Given the description of an element on the screen output the (x, y) to click on. 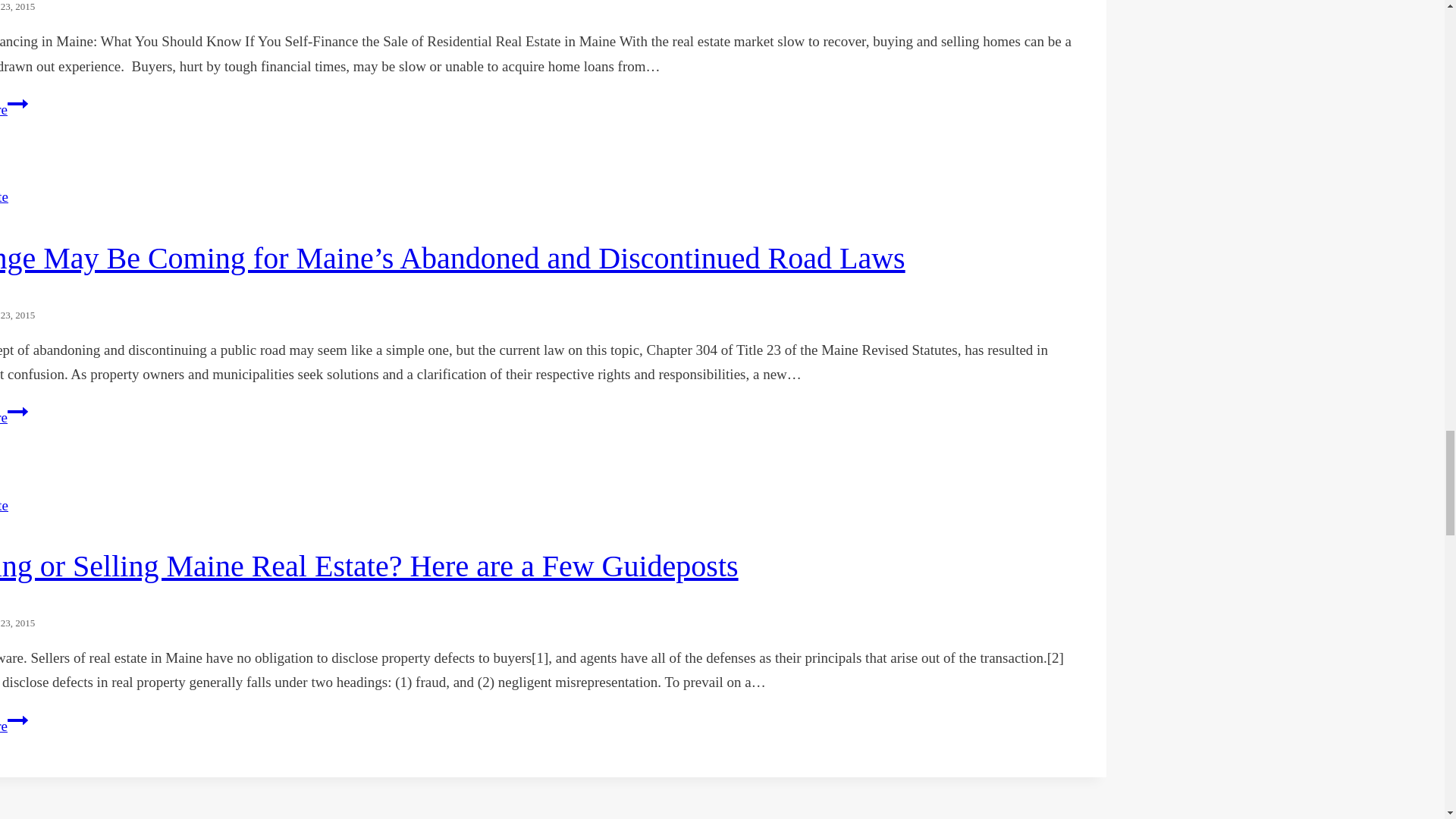
Continue (17, 411)
Continue (17, 103)
Continue (17, 720)
